Given the description of an element on the screen output the (x, y) to click on. 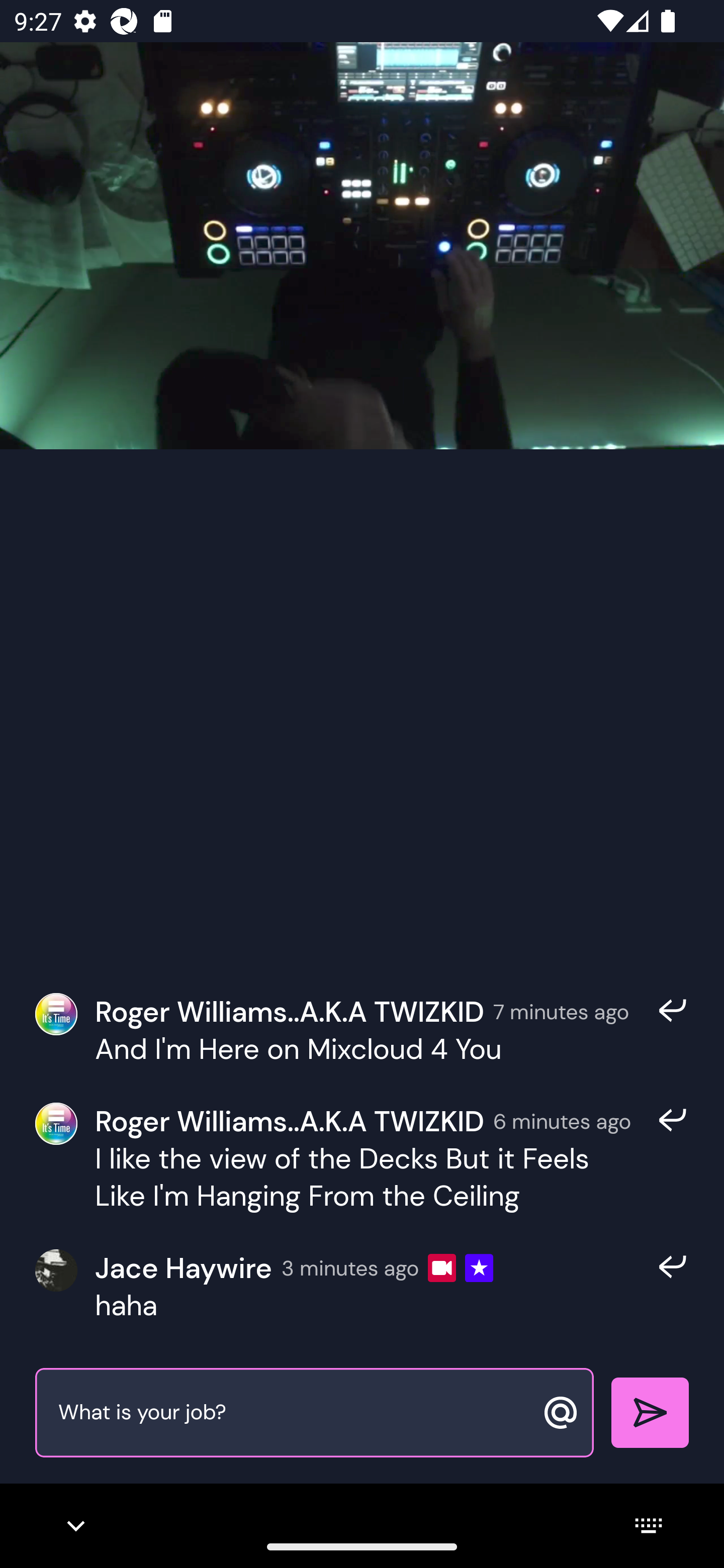
Roger Williams..A.K.A TWIZKID (289, 1011)
Roger Williams..A.K.A TWIZKID (289, 1120)
Jace Haywire (183, 1268)
What is your job? (292, 1413)
